Given the description of an element on the screen output the (x, y) to click on. 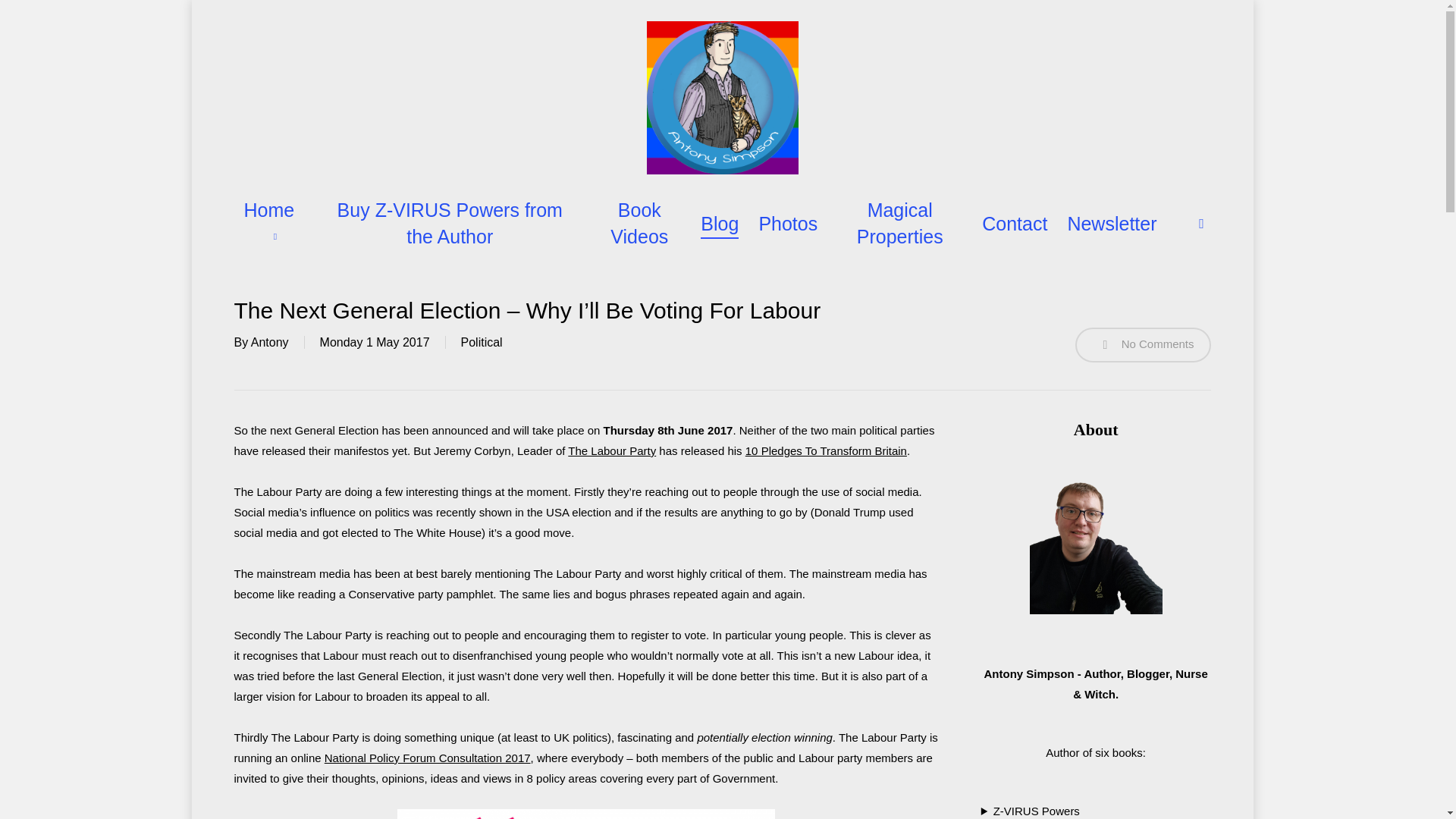
Posts by Antony (269, 341)
Blog (719, 223)
Buy Z-VIRUS Powers from the Author (449, 223)
Book Videos (638, 223)
Magical Properties (899, 223)
search (1200, 223)
Newsletter (1111, 223)
Photos (787, 223)
Home (273, 223)
Contact (1013, 223)
